Given the description of an element on the screen output the (x, y) to click on. 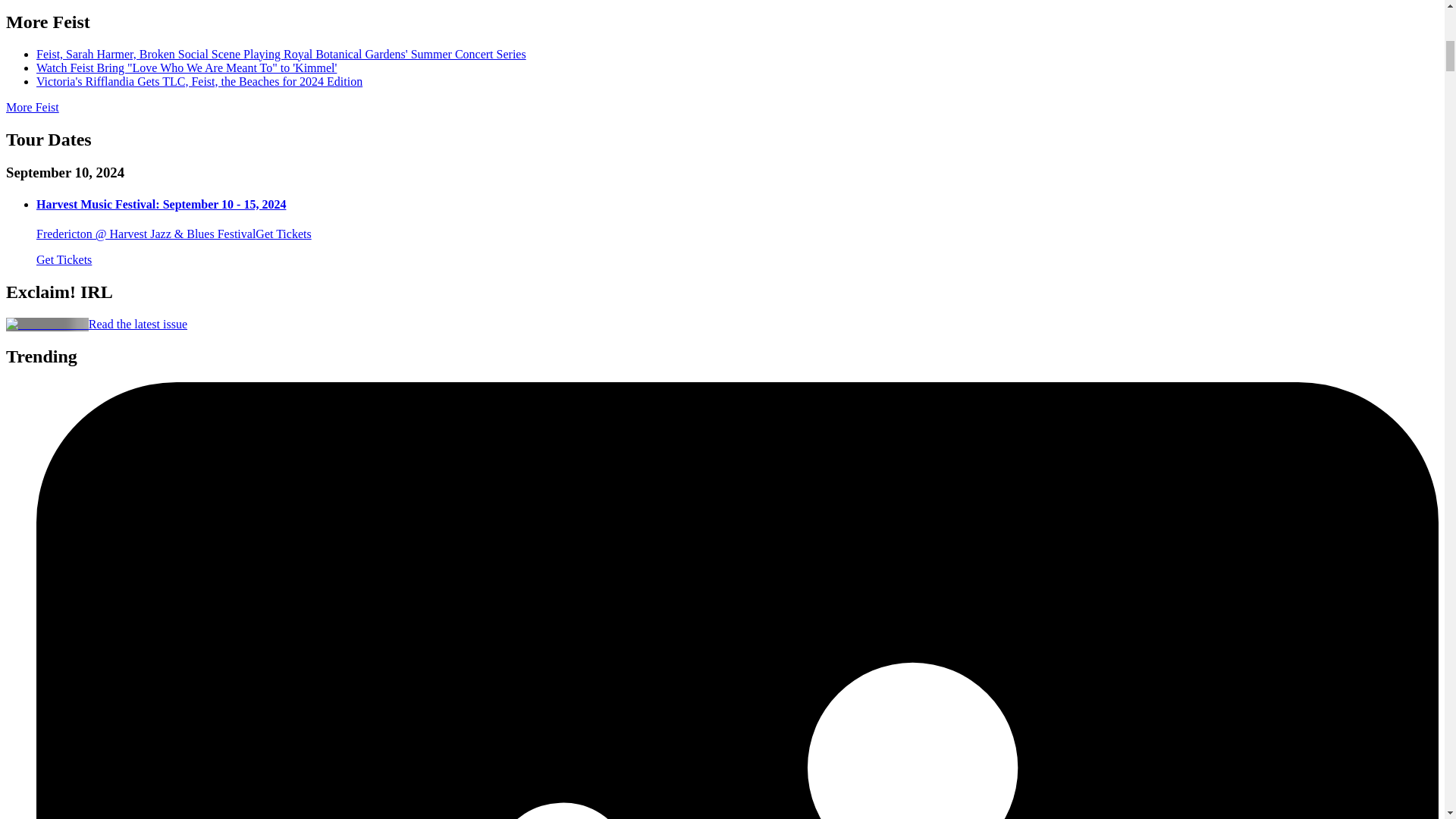
More Feist (32, 106)
Watch Feist Bring "Love Who We Are Meant To" to 'Kimmel' (186, 67)
Read the latest issue (137, 323)
Get Tickets (63, 259)
Get Tickets (283, 233)
